Given the description of an element on the screen output the (x, y) to click on. 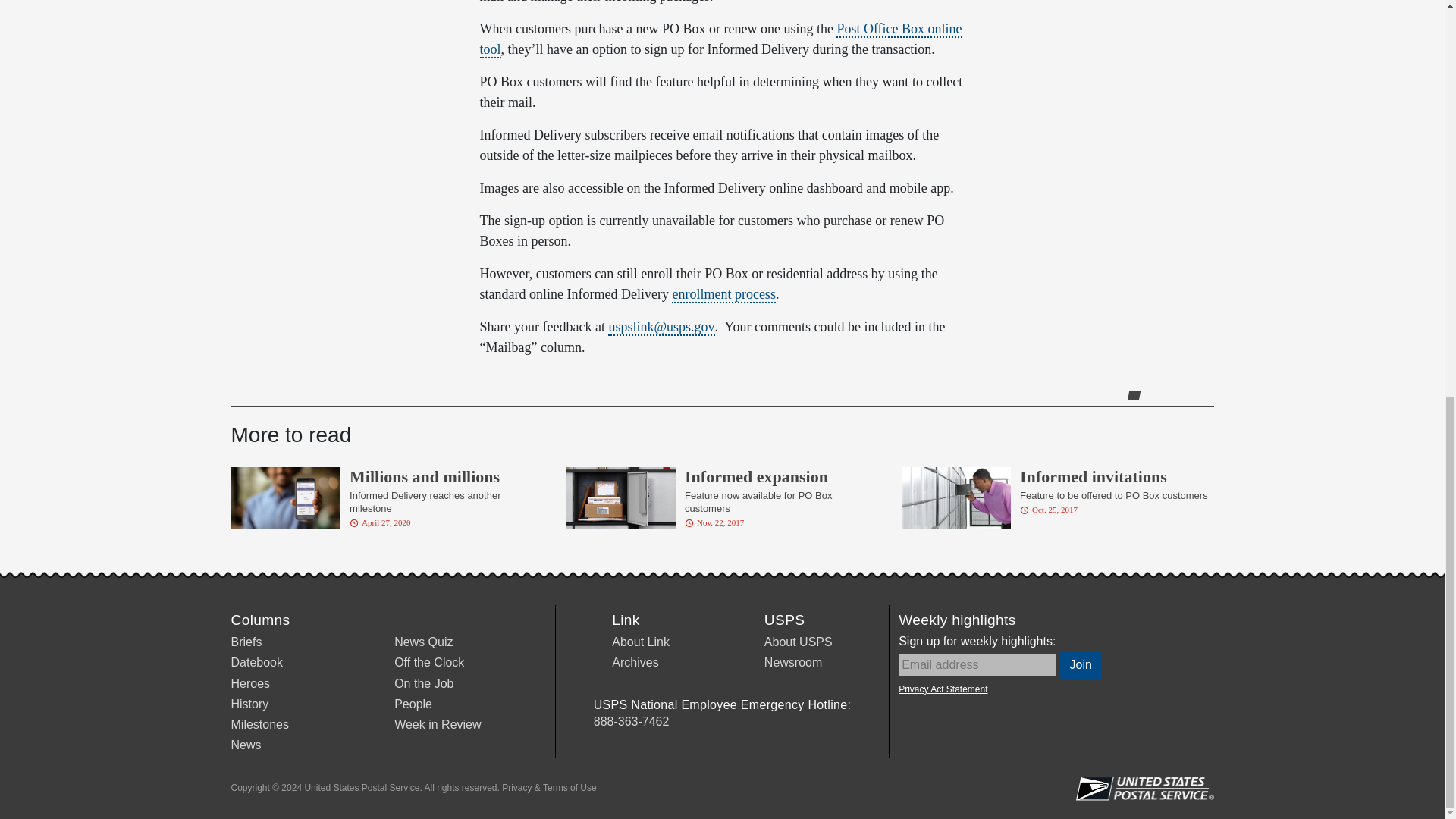
Milestones (259, 724)
History (248, 703)
Week in Review (437, 724)
Heroes (249, 683)
Join (1080, 664)
Off the Clock (429, 662)
People (413, 703)
